Given the description of an element on the screen output the (x, y) to click on. 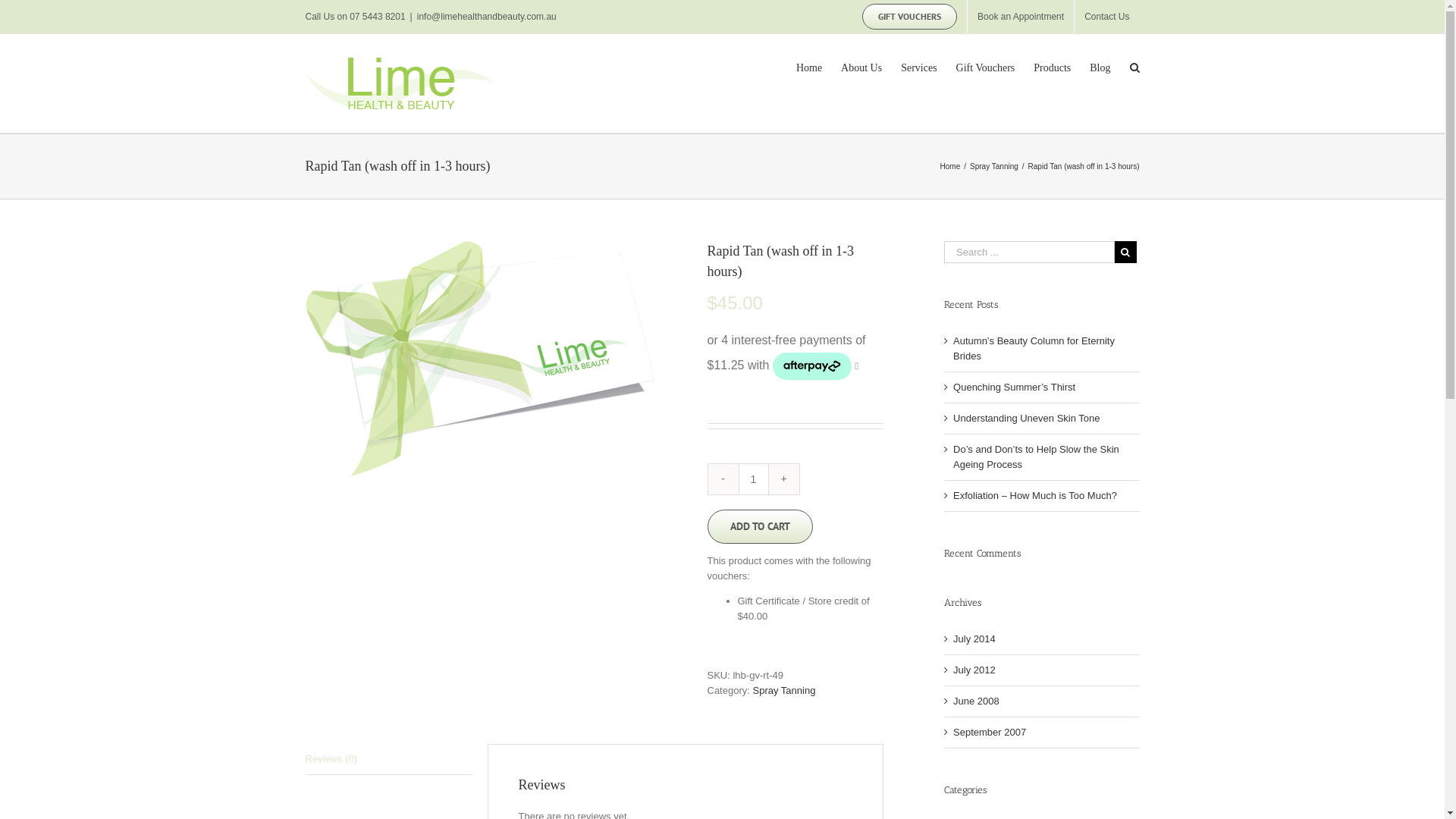
Home Element type: text (809, 66)
Search Element type: hover (1134, 66)
July 2012 Element type: text (974, 669)
ADD TO CART Element type: text (759, 526)
June 2008 Element type: text (976, 700)
Reviews (0) Element type: text (387, 759)
Home Element type: text (950, 166)
September 2007 Element type: text (989, 731)
Services Element type: text (918, 66)
Contact Us Element type: text (1106, 16)
Products Element type: text (1051, 66)
Spray Tanning Element type: text (993, 166)
About Us Element type: text (860, 66)
Spray Tanning Element type: text (783, 690)
gift Element type: hover (478, 359)
Blog Element type: text (1099, 66)
GIFT VOUCHERS Element type: text (909, 16)
Book an Appointment Element type: text (1020, 16)
Understanding Uneven Skin Tone Element type: text (1026, 417)
info@limehealthandbeauty.com.au Element type: text (486, 16)
Gift Vouchers Element type: text (985, 66)
July 2014 Element type: text (974, 638)
